Given the description of an element on the screen output the (x, y) to click on. 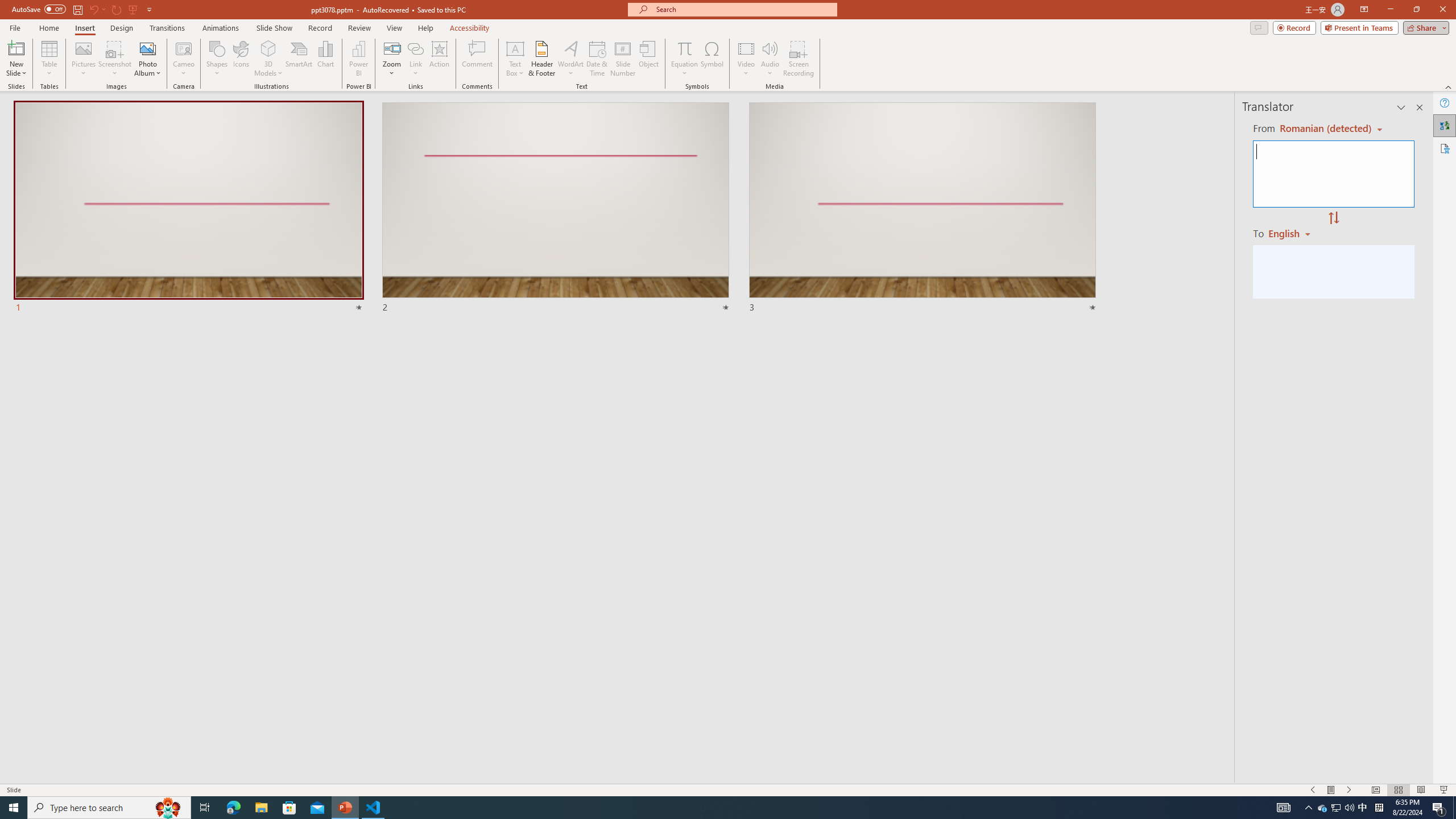
Screenshot (114, 58)
Slide Number (622, 58)
Object... (649, 58)
WordArt (570, 58)
Draw Horizontal Text Box (515, 48)
Link (415, 48)
